Given the description of an element on the screen output the (x, y) to click on. 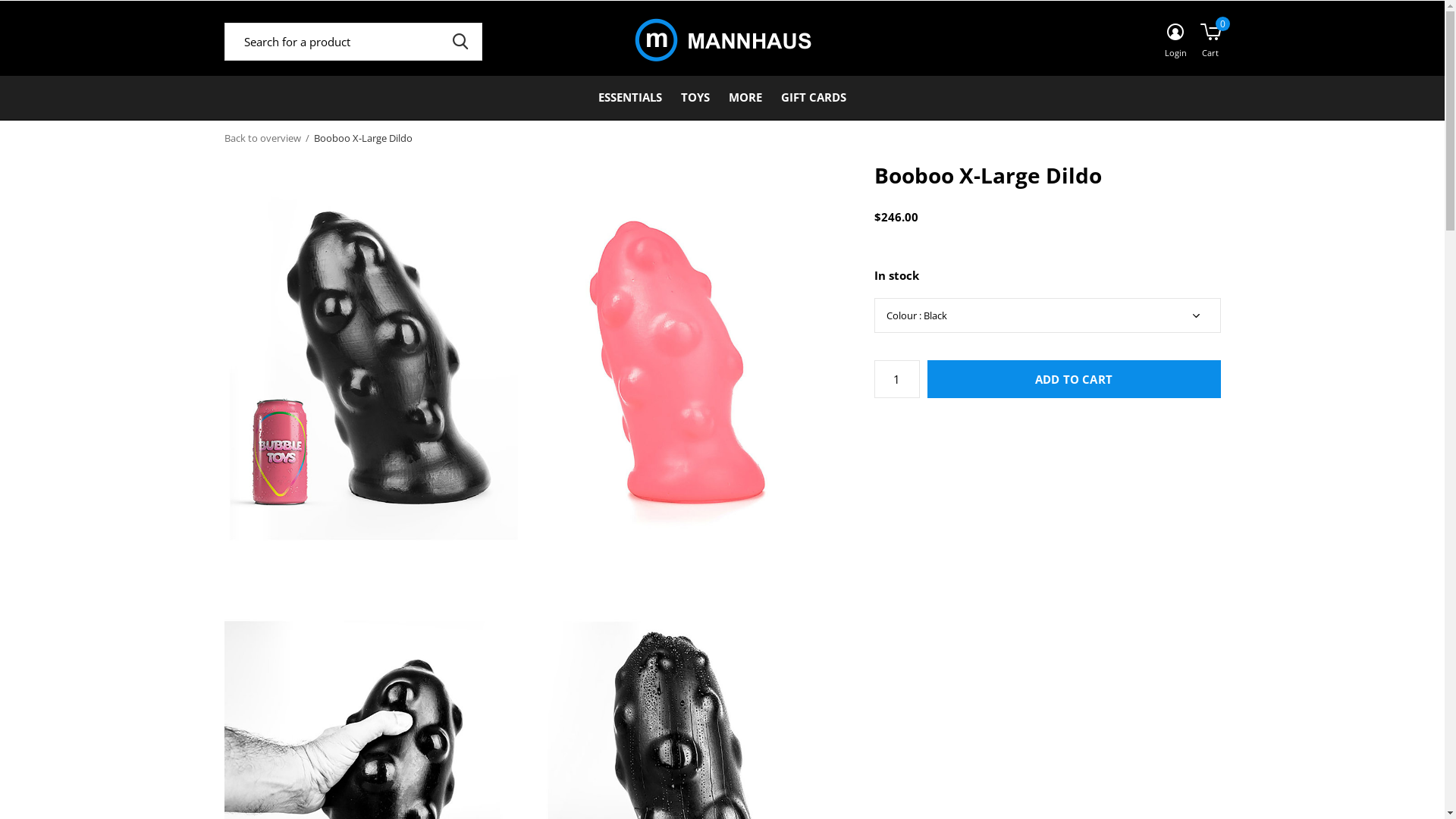
ESSENTIALS Element type: text (630, 96)
TOYS Element type: text (694, 96)
ADD TO CART Element type: text (1073, 379)
Cart
0 Element type: text (1209, 42)
MORE Element type: text (745, 96)
GIFT CARDS Element type: text (813, 96)
Login Element type: text (1175, 42)
Back to overview Element type: text (262, 137)
SEARCH Element type: text (460, 41)
